Given the description of an element on the screen output the (x, y) to click on. 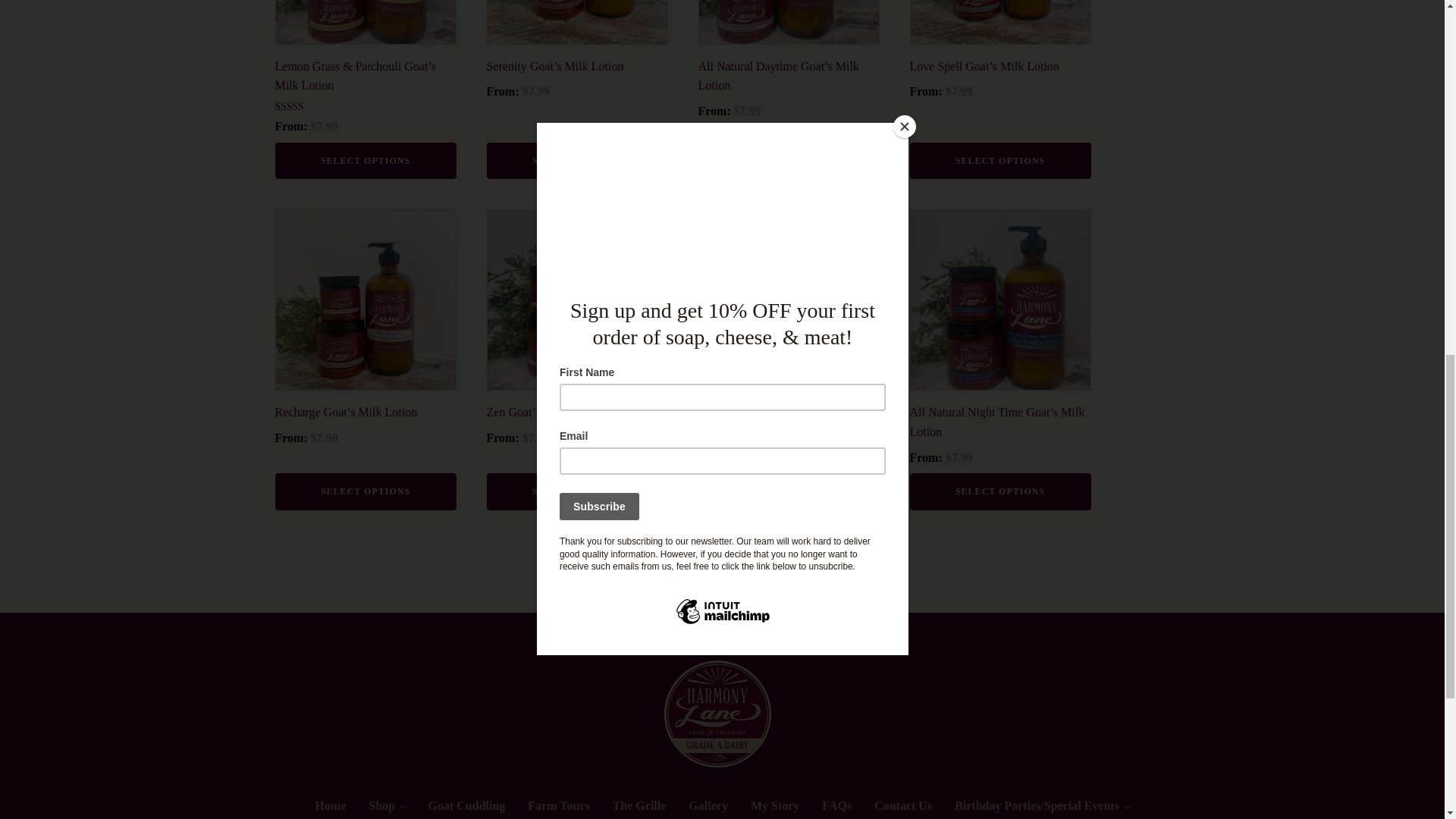
SELECT OPTIONS (365, 160)
SELECT OPTIONS (577, 160)
SELECT OPTIONS (788, 160)
